Given the description of an element on the screen output the (x, y) to click on. 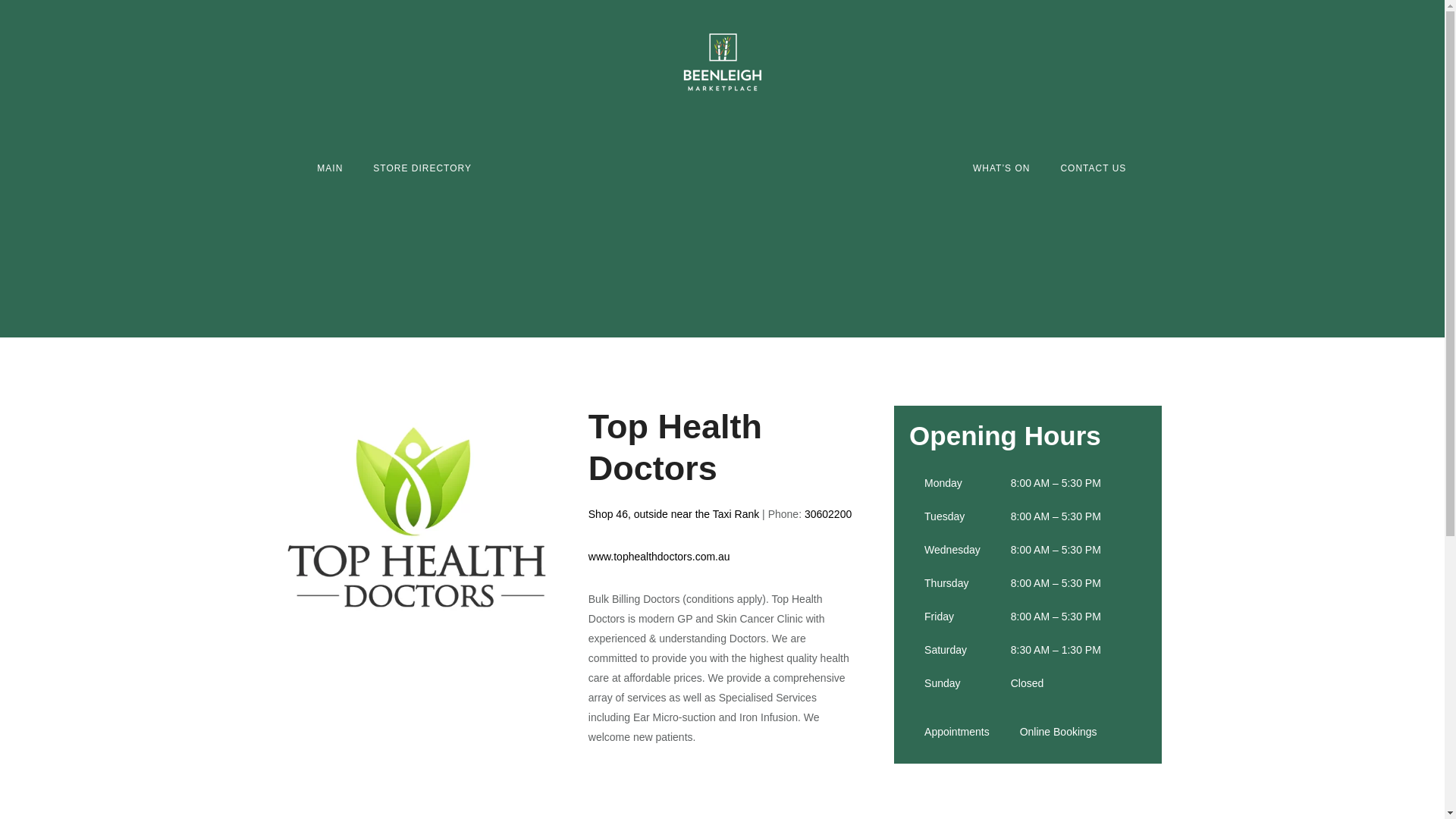
Contact Us (1093, 167)
Top Health Doctors (416, 516)
Shop 46, outside near the Taxi Rank (673, 513)
Store Directory (422, 167)
STORE DIRECTORY (422, 167)
CONTACT US (1093, 167)
Online Bookings (1058, 731)
MAIN (329, 167)
Main (329, 167)
30602200 (828, 513)
www.tophealthdoctors.com.au (659, 556)
